Given the description of an element on the screen output the (x, y) to click on. 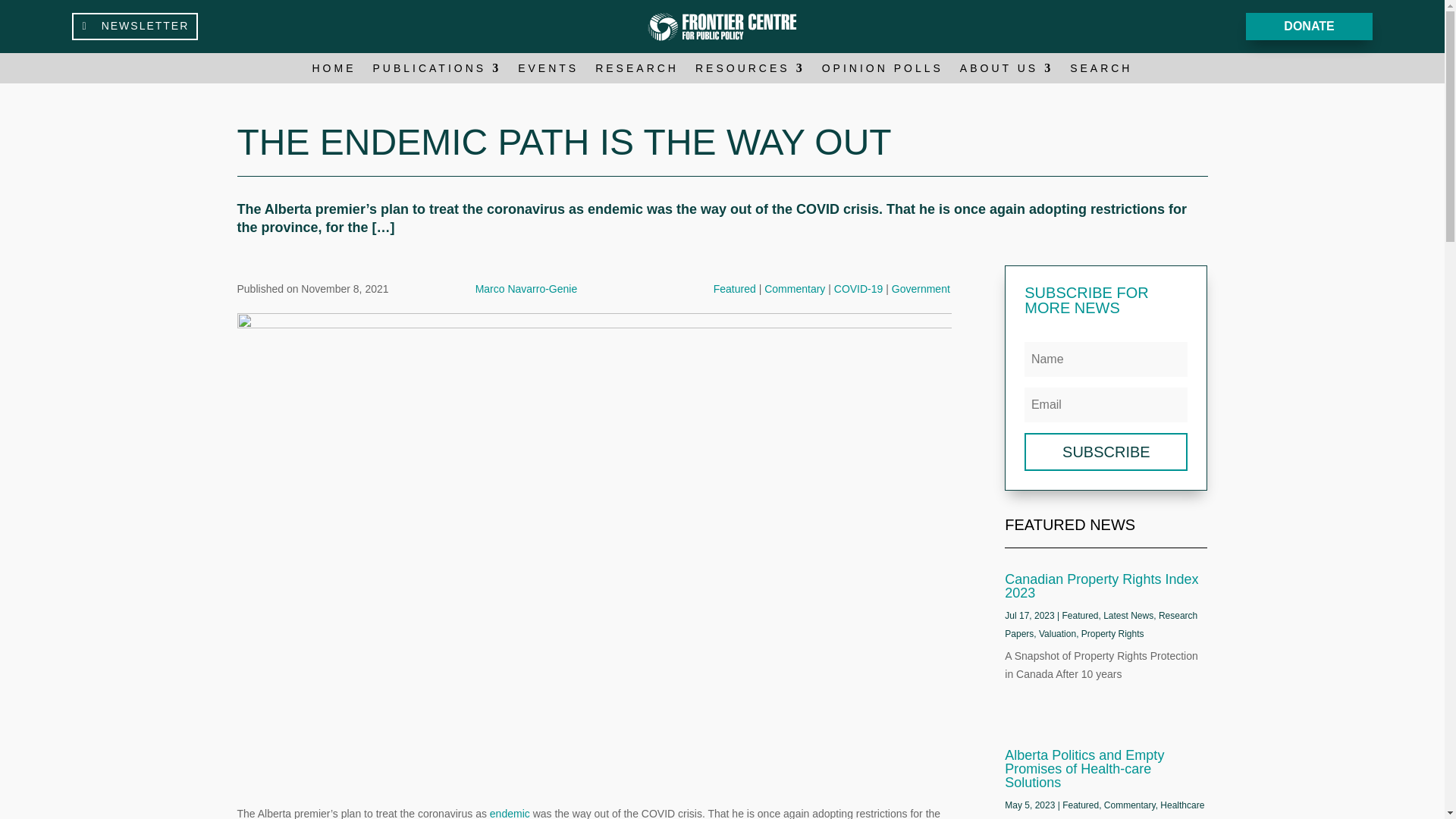
OPINION POLLS (882, 71)
DONATE (1308, 26)
PUBLICATIONS (437, 71)
HOME (334, 71)
RESEARCH (636, 71)
RESOURCES (750, 71)
NEWSLETTER (134, 26)
FCPP Icon White (722, 25)
ABOUT US (1005, 71)
EVENTS (548, 71)
